Given the description of an element on the screen output the (x, y) to click on. 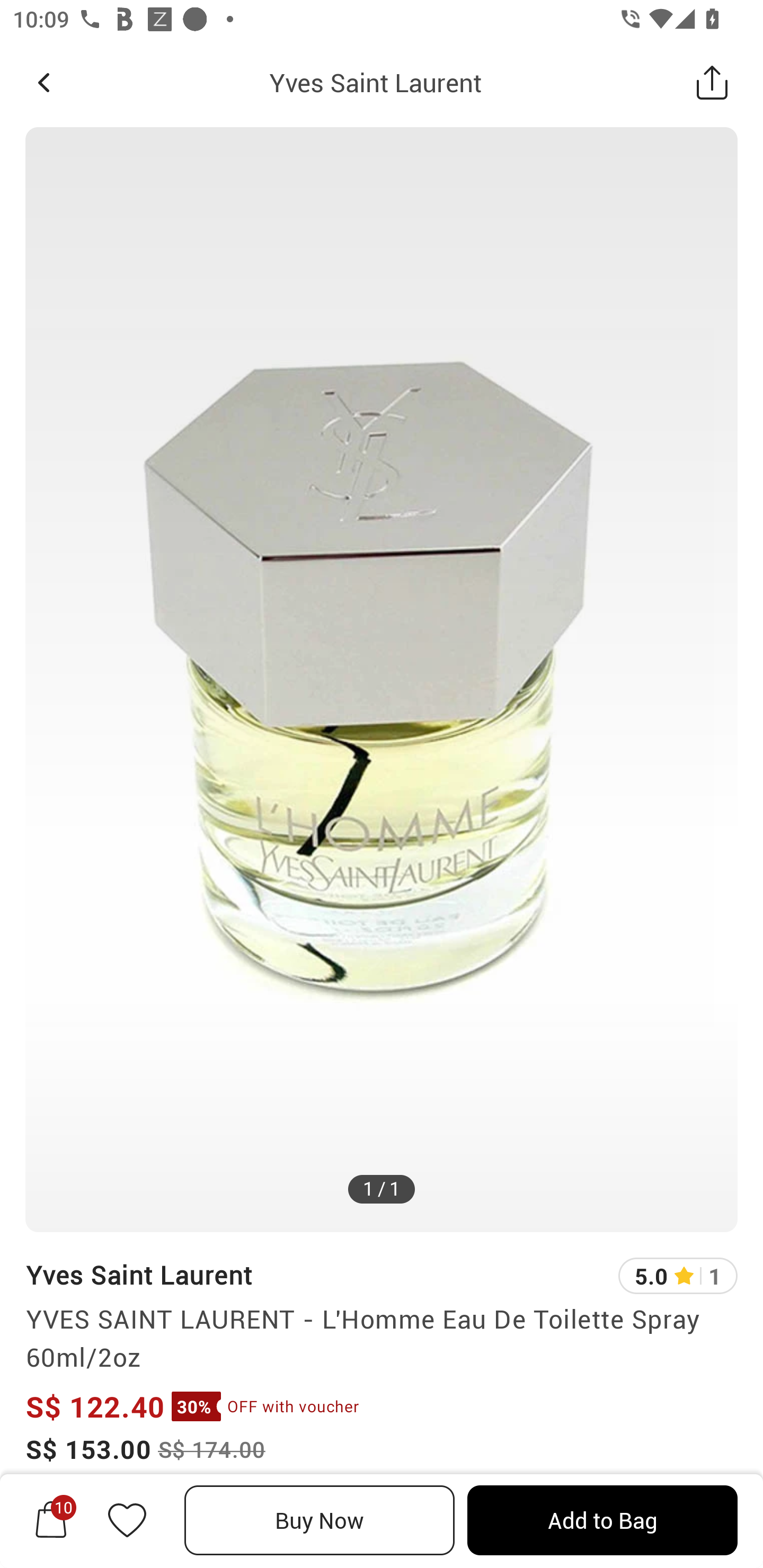
Yves Saint Laurent (375, 82)
Share this Product (711, 82)
Yves Saint Laurent (138, 1274)
5.0 1 (677, 1275)
Buy Now (319, 1519)
Add to Bag (601, 1519)
10 (50, 1520)
